Given the description of an element on the screen output the (x, y) to click on. 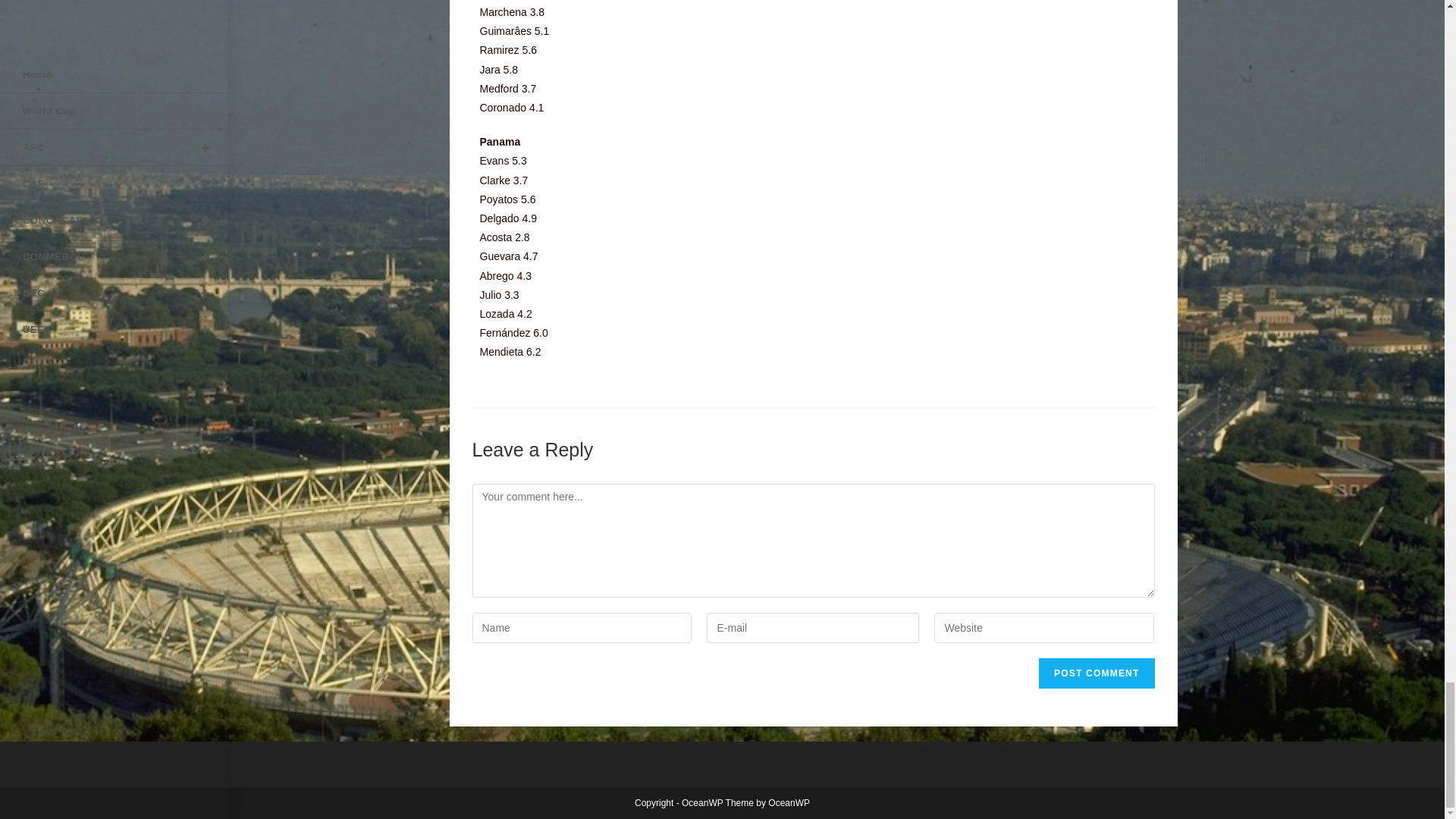
Post Comment (1096, 673)
